Given the description of an element on the screen output the (x, y) to click on. 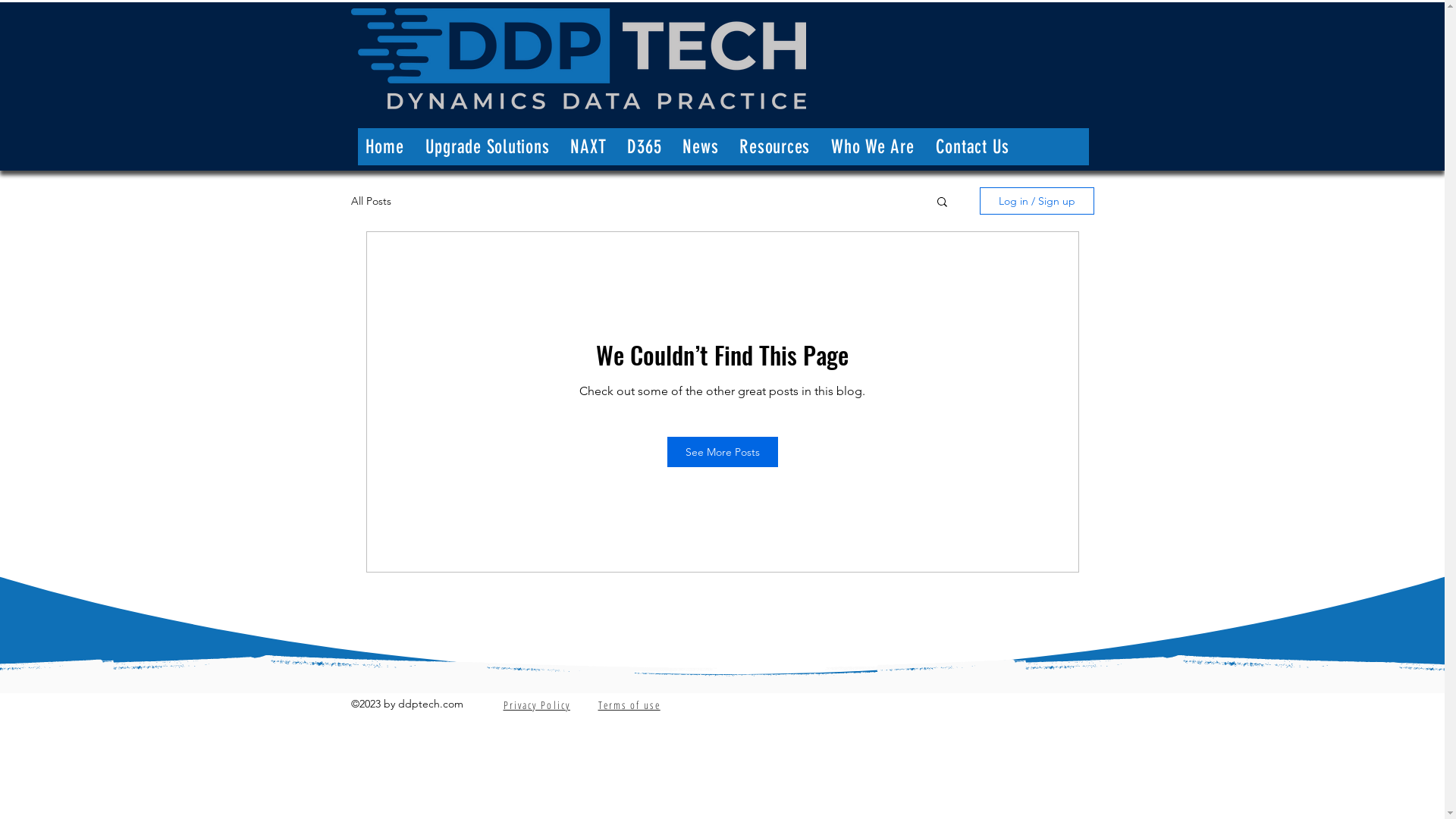
Contact Us Element type: text (972, 146)
Resources Element type: text (774, 146)
Terms of use Element type: text (628, 704)
Log in / Sign up Element type: text (1036, 200)
Privacy Policy Element type: text (536, 704)
final.png Element type: hover (577, 58)
All Posts Element type: text (370, 200)
See More Posts Element type: text (722, 451)
Home Element type: text (384, 146)
Who We Are Element type: text (872, 146)
D365 Element type: text (643, 146)
NAXT Element type: text (587, 146)
News Element type: text (699, 146)
Upgrade Solutions Element type: text (486, 146)
